Given the description of an element on the screen output the (x, y) to click on. 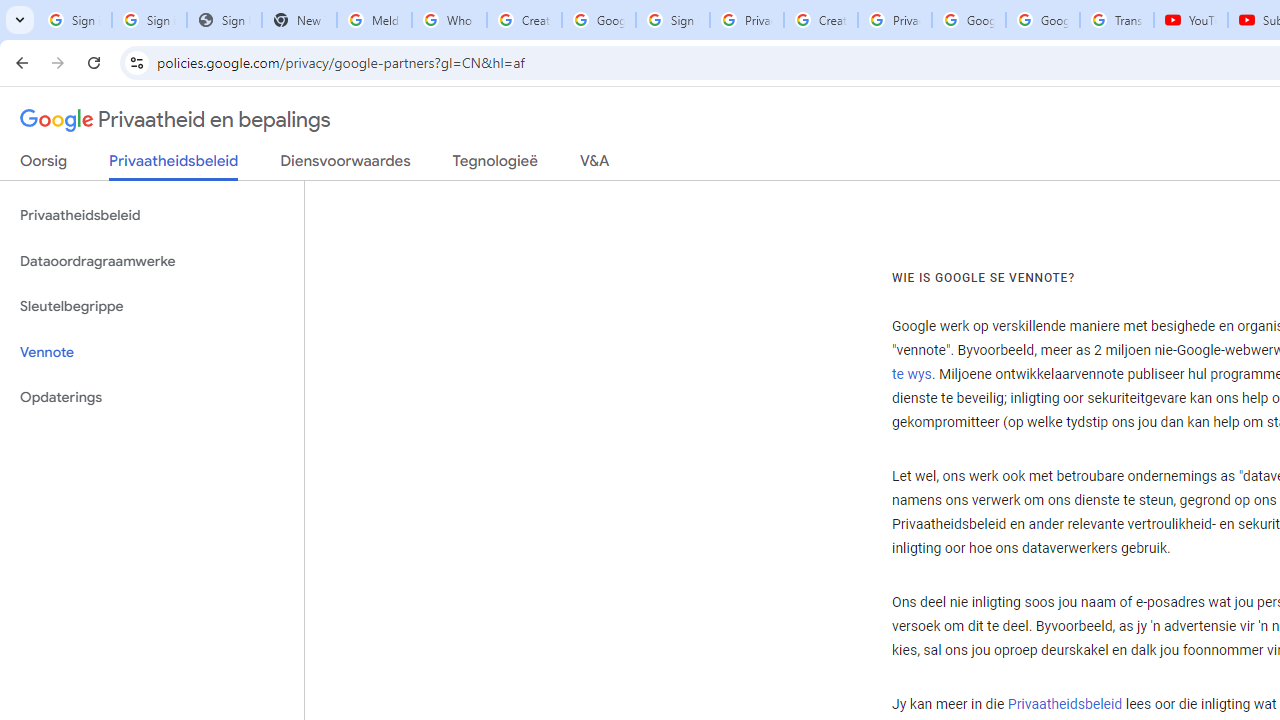
Google Account (1043, 20)
Sign in - Google Accounts (74, 20)
Oorsig (43, 165)
YouTube (1190, 20)
Diensvoorwaardes (345, 165)
Dataoordragraamwerke (152, 261)
